Given the description of an element on the screen output the (x, y) to click on. 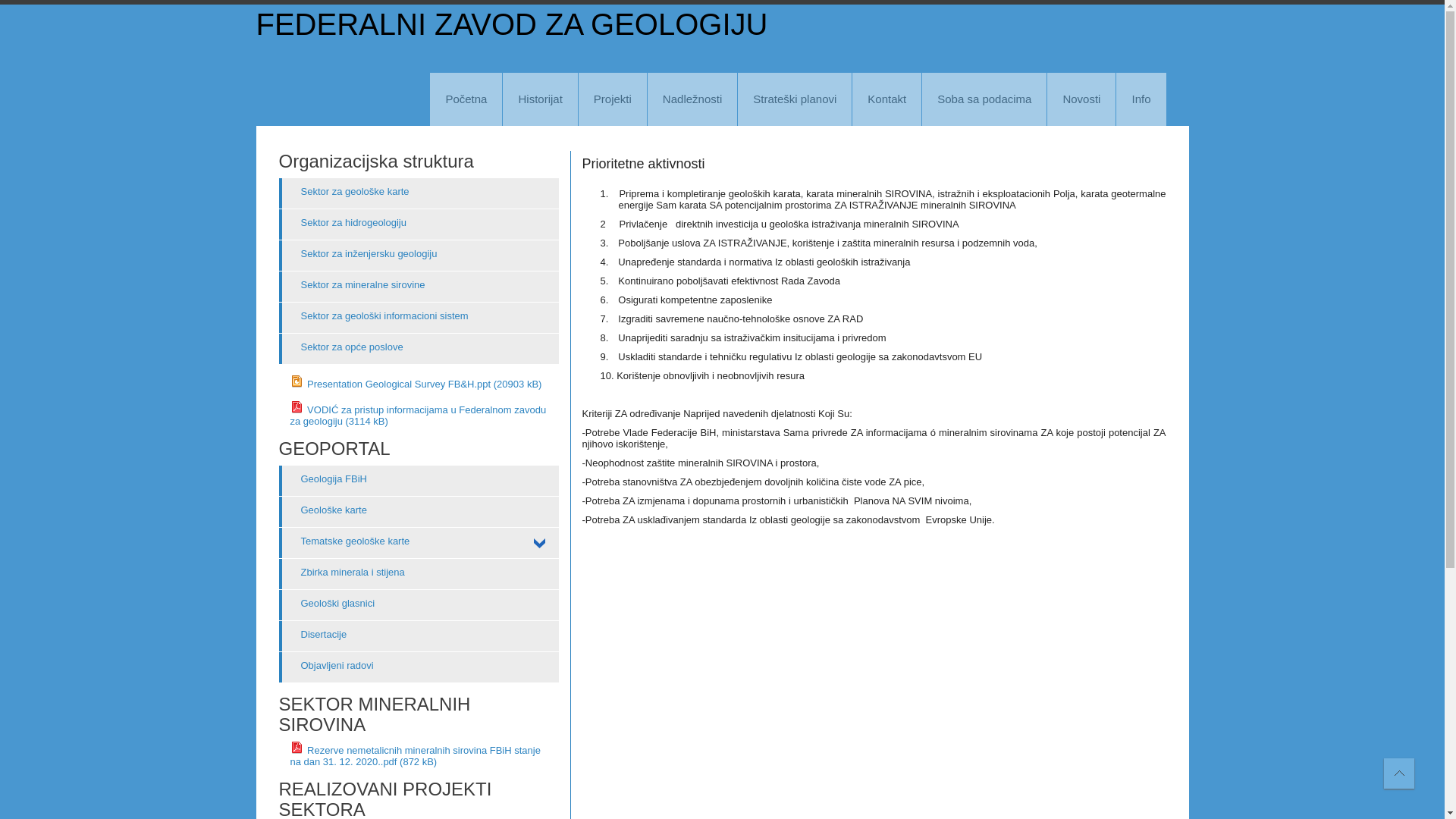
Projekti Element type: text (612, 98)
Geologija FBiH Element type: text (418, 480)
Kontakt Element type: text (886, 98)
Objavljeni radovi Element type: text (418, 667)
Soba sa podacima Element type: text (984, 98)
Sektor za mineralne sirovine Element type: text (418, 286)
Sektor za hidrogeologiju Element type: text (418, 224)
Info Element type: text (1140, 98)
Historijat Element type: text (539, 98)
Disertacije Element type: text (418, 636)
Presentation Geological Survey FB&H.ppt (20903 kB) Element type: text (415, 383)
Zbirka minerala i stijena Element type: text (418, 573)
FEDERALNI ZAVOD ZA GEOLOGIJU Element type: text (512, 23)
Novosti Element type: text (1081, 98)
